Given the description of an element on the screen output the (x, y) to click on. 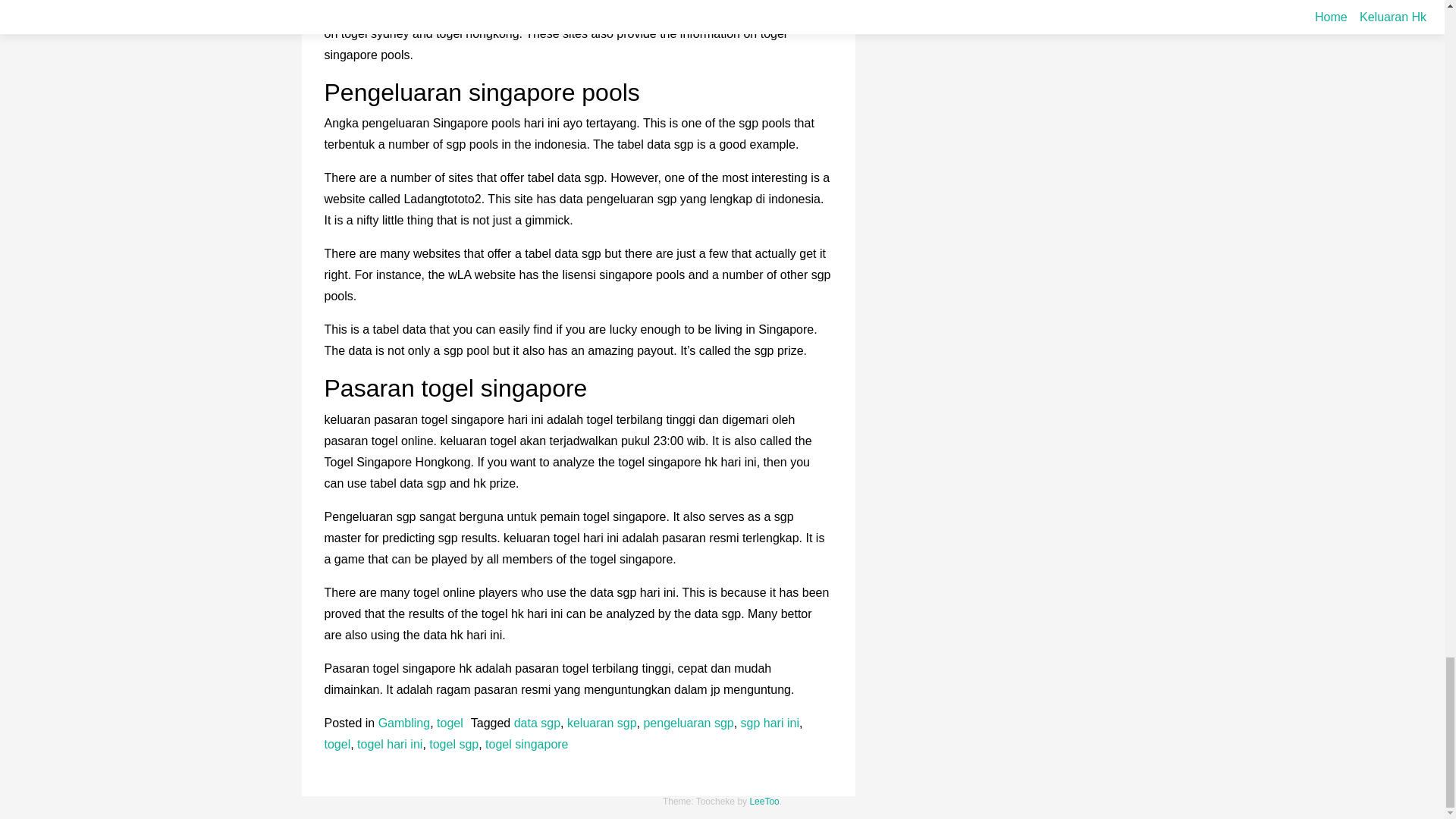
keluaran sgp (602, 722)
Gambling (403, 722)
data sgp (536, 722)
togel (449, 722)
